Given the description of an element on the screen output the (x, y) to click on. 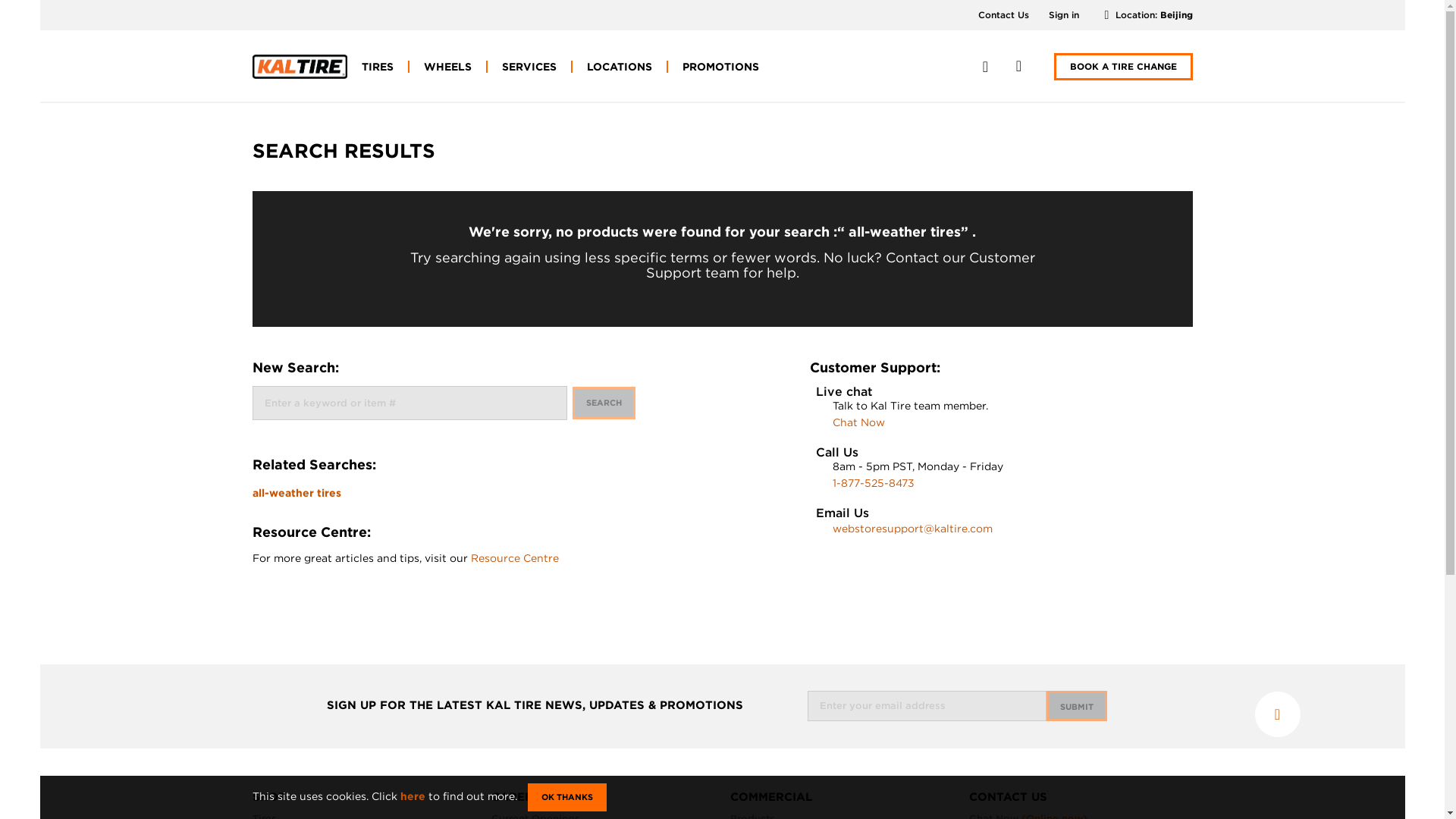
TIRES (377, 66)
Contact Us (1003, 14)
Sign in (1063, 14)
Sign in (1063, 14)
View Cart (1019, 66)
Kal Tire (298, 66)
all-weather tires (295, 492)
Beijing (1176, 14)
